Given the description of an element on the screen output the (x, y) to click on. 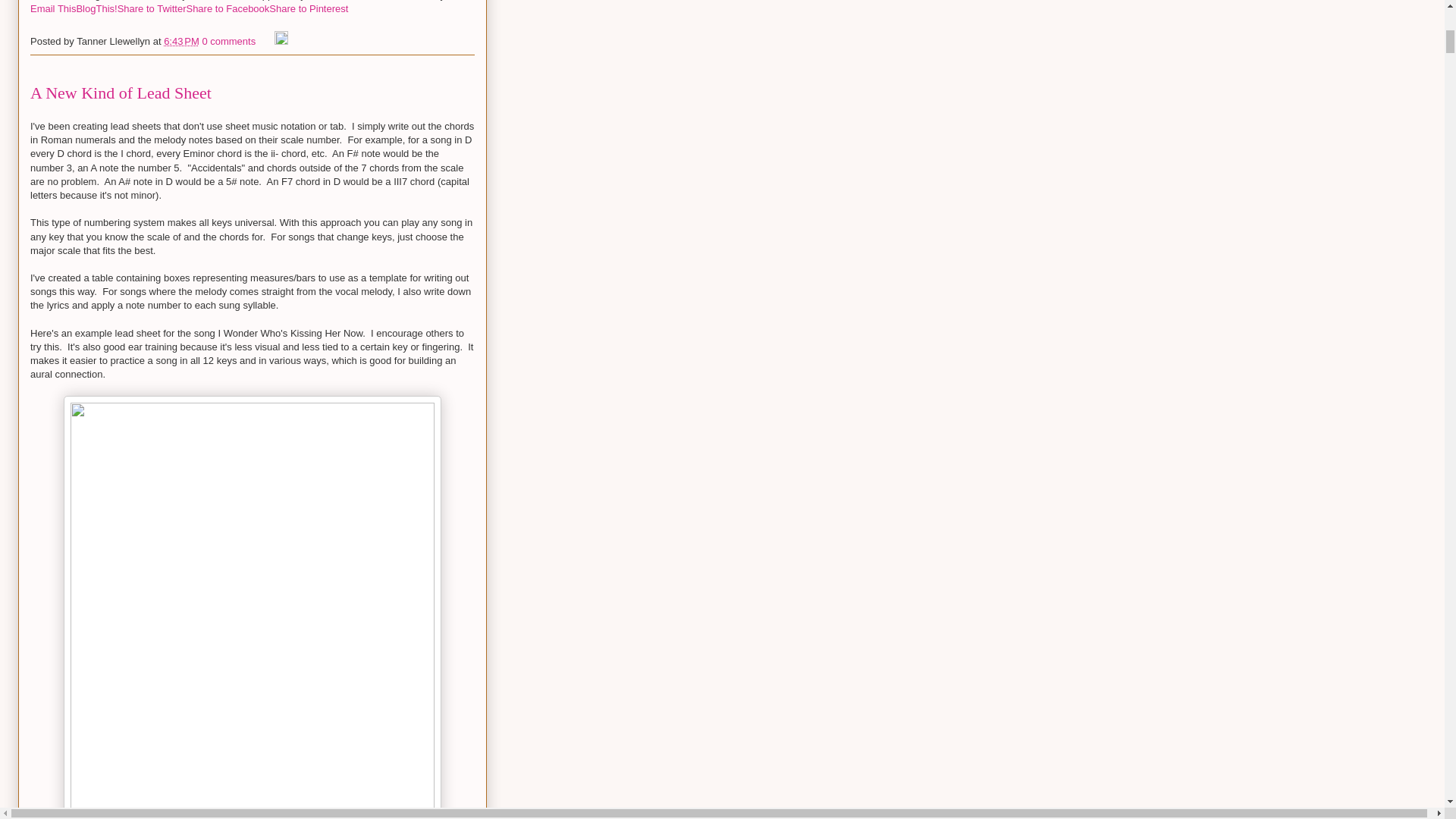
Edit Post (281, 41)
Share to Pinterest (308, 8)
Share to Pinterest (308, 8)
Share to Twitter (151, 8)
BlogThis! (95, 8)
Share to Facebook (227, 8)
0 comments (229, 41)
Share to Facebook (227, 8)
Email This (52, 8)
Email Post (267, 41)
permanent link (181, 41)
A New Kind of Lead Sheet (120, 92)
Share to Twitter (151, 8)
Email This (52, 8)
